Given the description of an element on the screen output the (x, y) to click on. 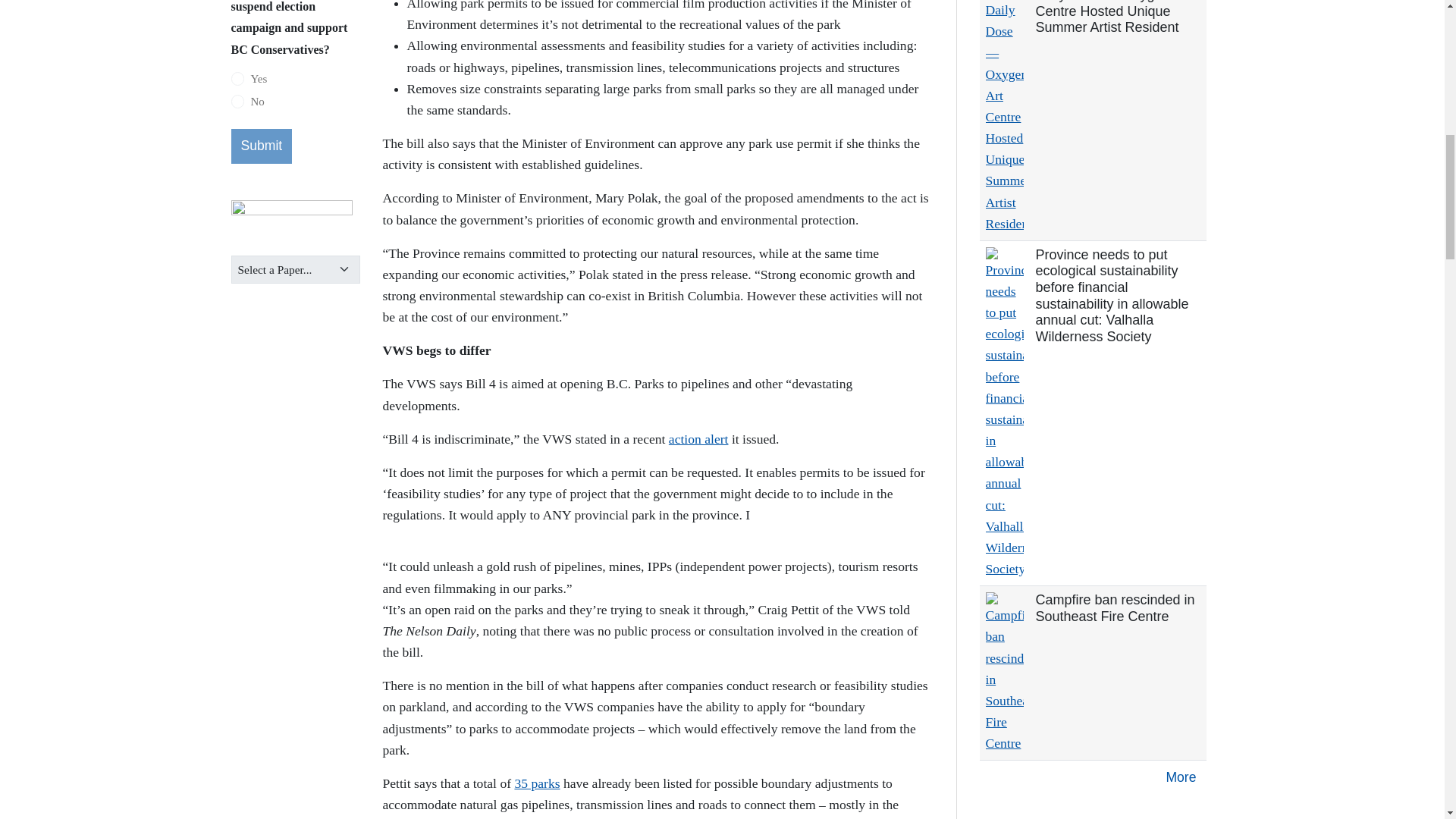
35 parks (536, 783)
Submit (261, 145)
Submit (261, 145)
gpoll21fab29bd (237, 101)
gpoll24ce86b7a (237, 78)
action alert (698, 438)
